Given the description of an element on the screen output the (x, y) to click on. 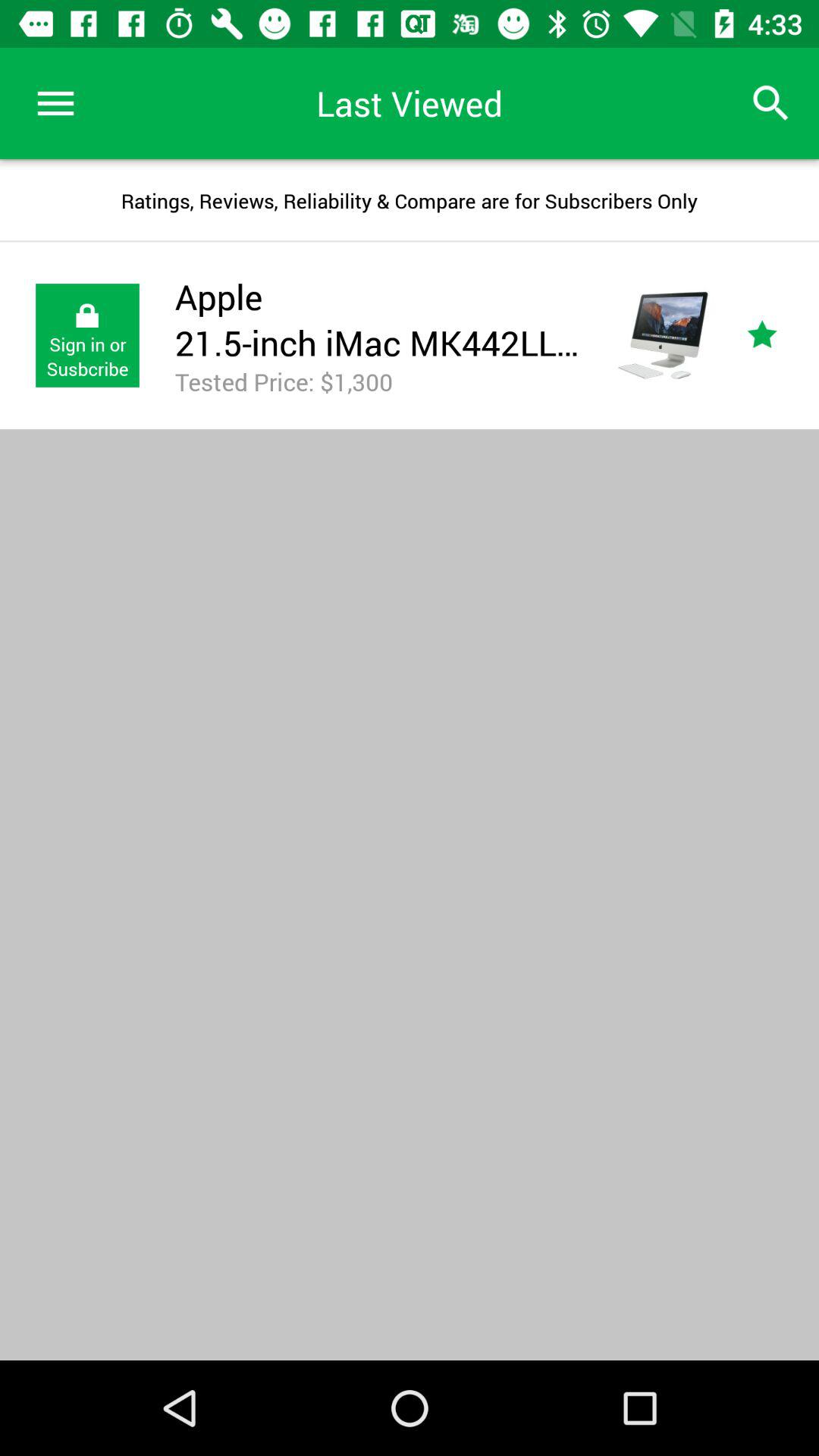
launch item above ratings reviews reliability icon (771, 103)
